Given the description of an element on the screen output the (x, y) to click on. 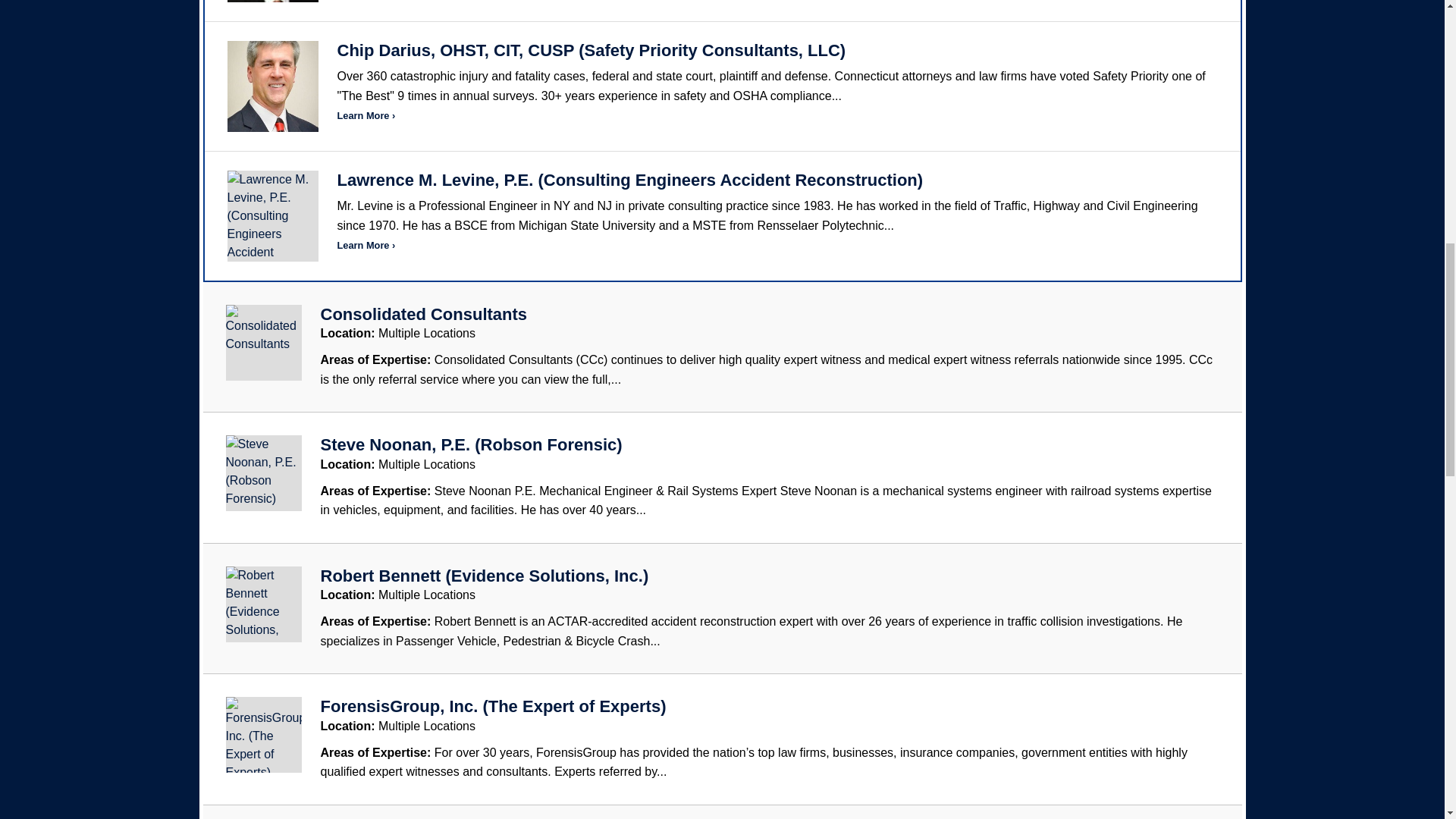
Consolidated Consultants (423, 313)
Consolidated Consultants (423, 313)
